Given the description of an element on the screen output the (x, y) to click on. 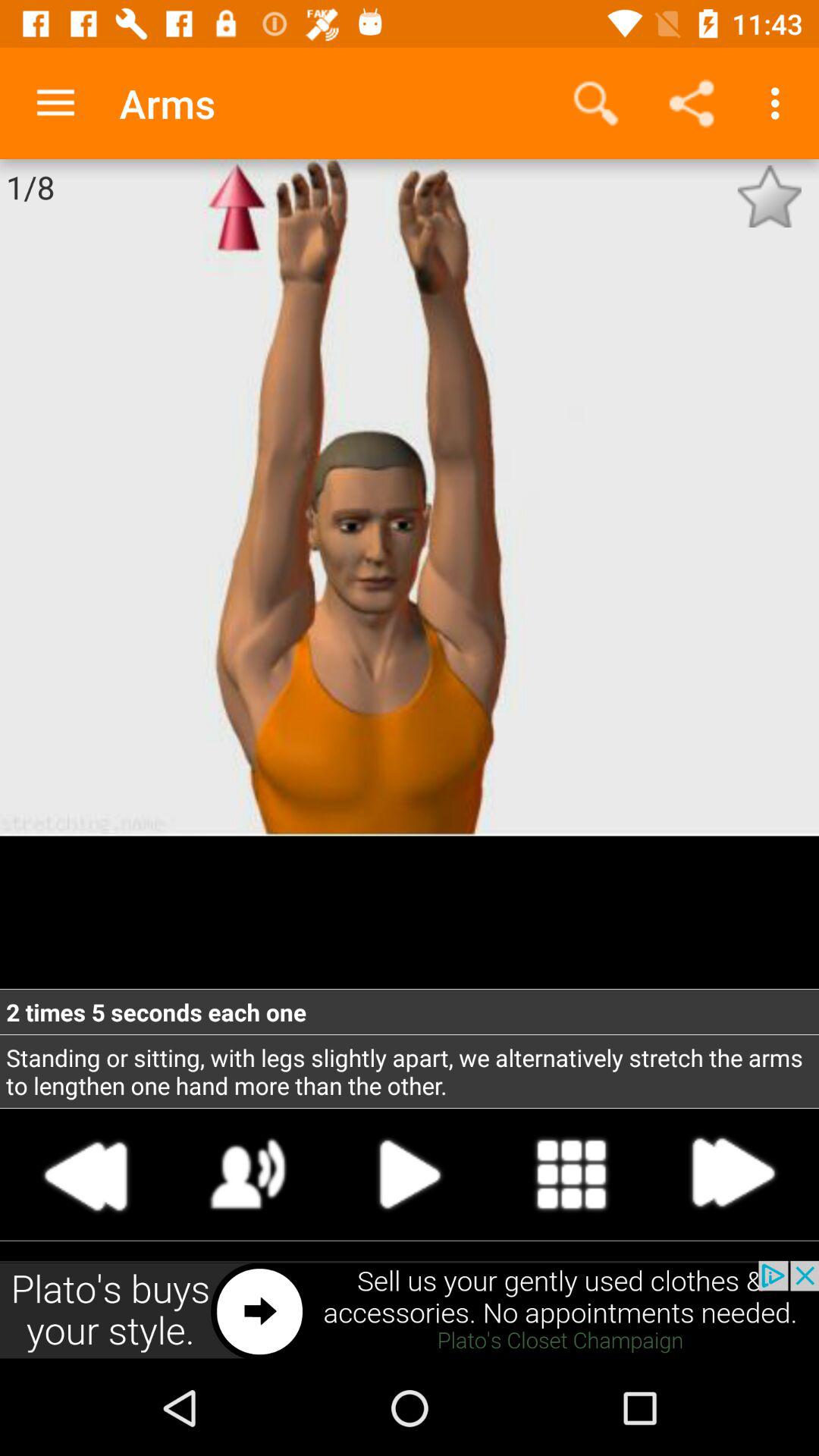
turn on voice instruction (248, 1174)
